Given the description of an element on the screen output the (x, y) to click on. 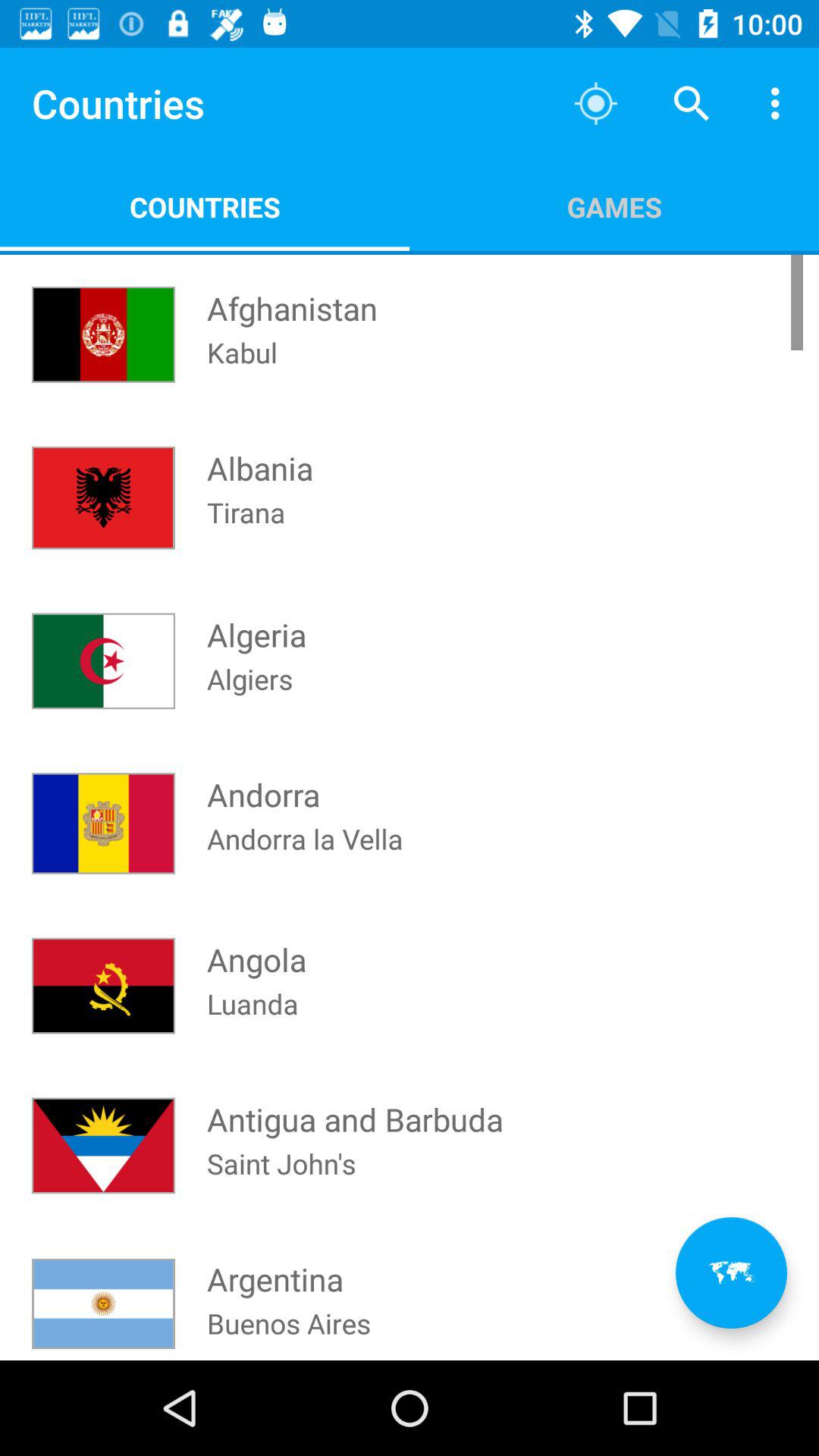
turn off icon above the saint john's item (355, 1104)
